Given the description of an element on the screen output the (x, y) to click on. 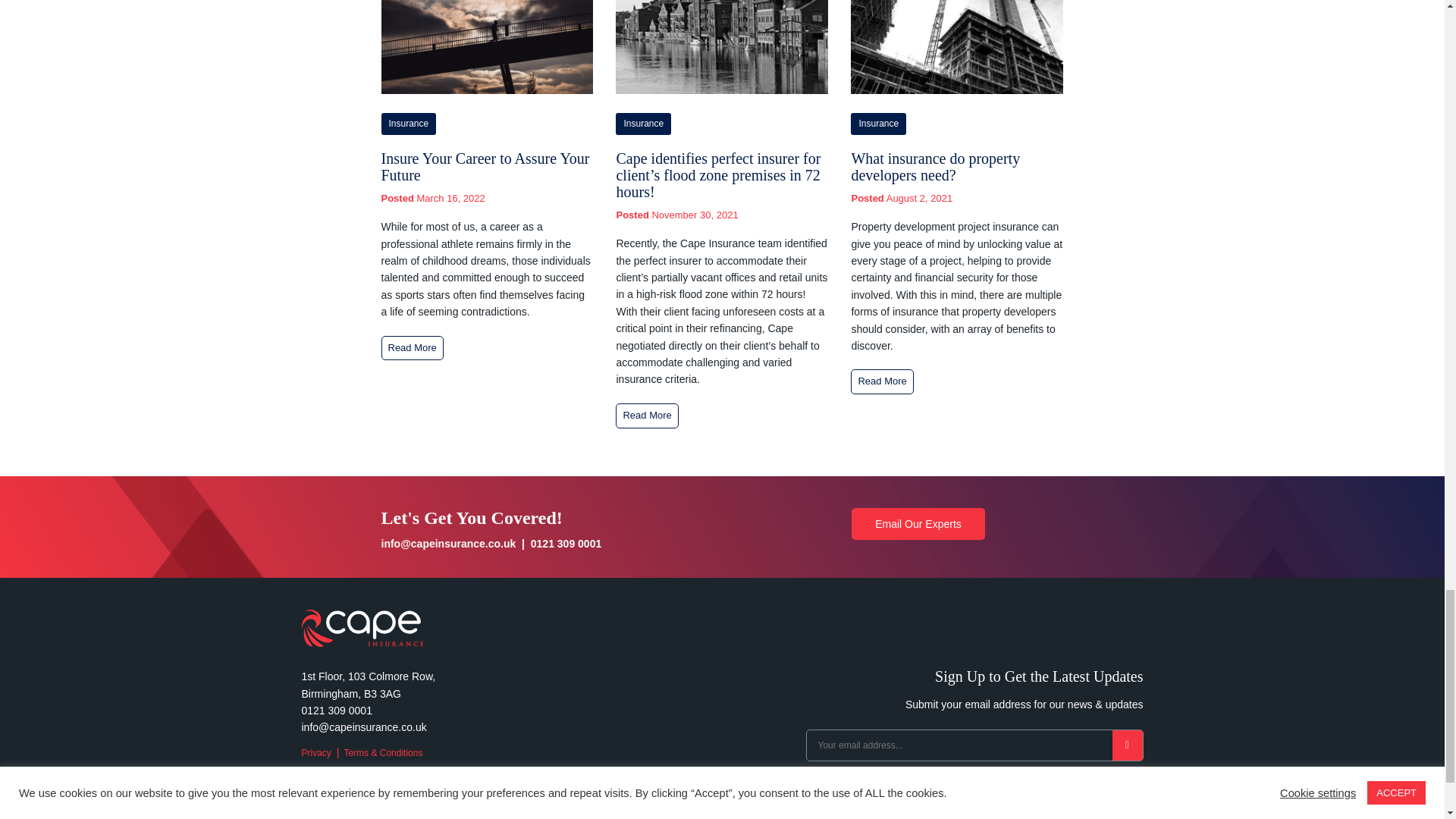
Insurance (407, 124)
Insurance (643, 124)
Read More (646, 415)
Read More (411, 348)
Read More (881, 381)
0121 309 0001 (566, 543)
Insurance (877, 124)
